Given the description of an element on the screen output the (x, y) to click on. 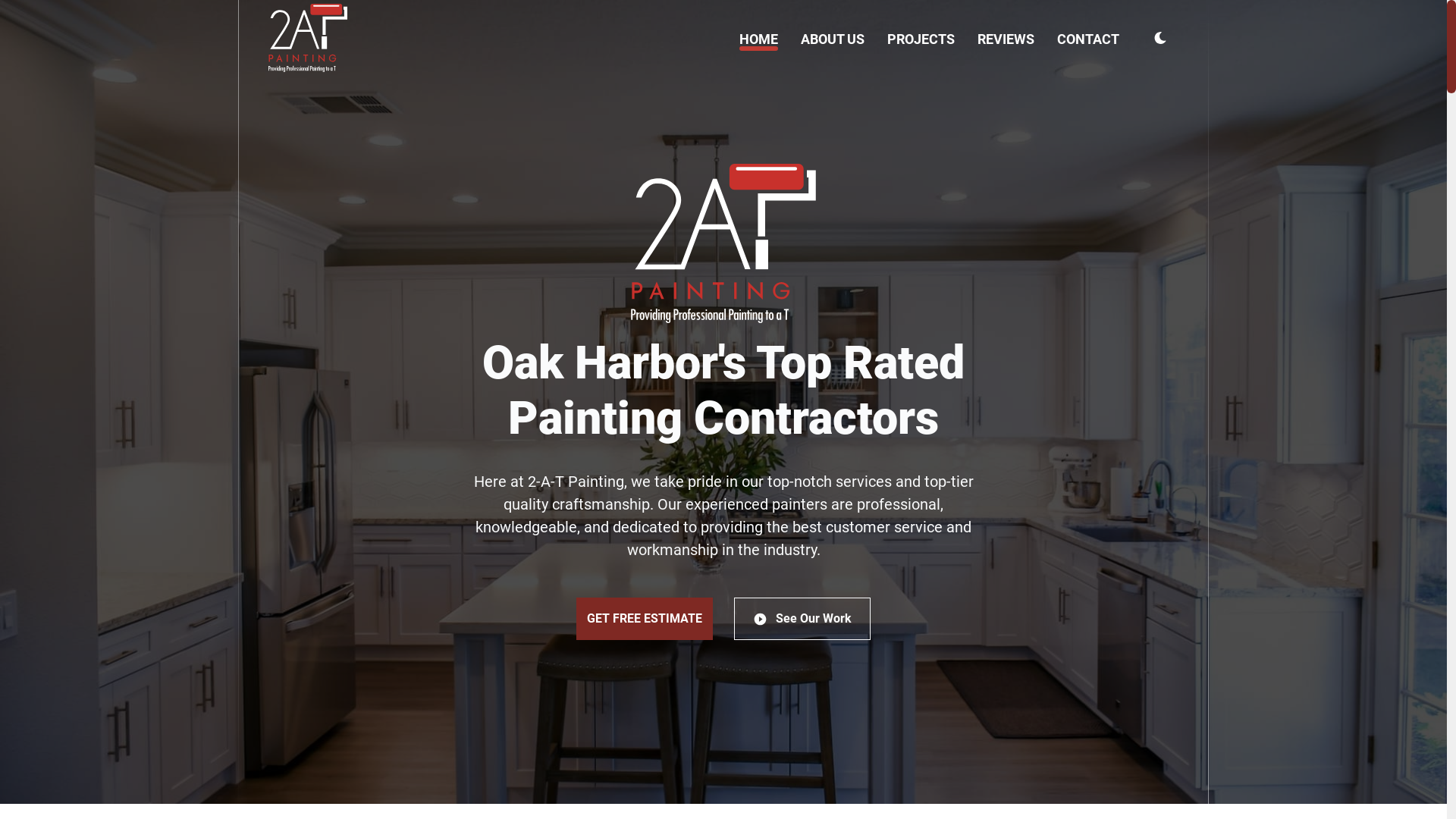
See Our Work Element type: text (802, 618)
CONTACT Element type: text (1088, 39)
REVIEWS Element type: text (1005, 39)
HOME Element type: text (758, 39)
PROJECTS Element type: text (920, 39)
ABOUT US Element type: text (832, 39)
GET FREE ESTIMATE Element type: text (644, 618)
